Given the description of an element on the screen output the (x, y) to click on. 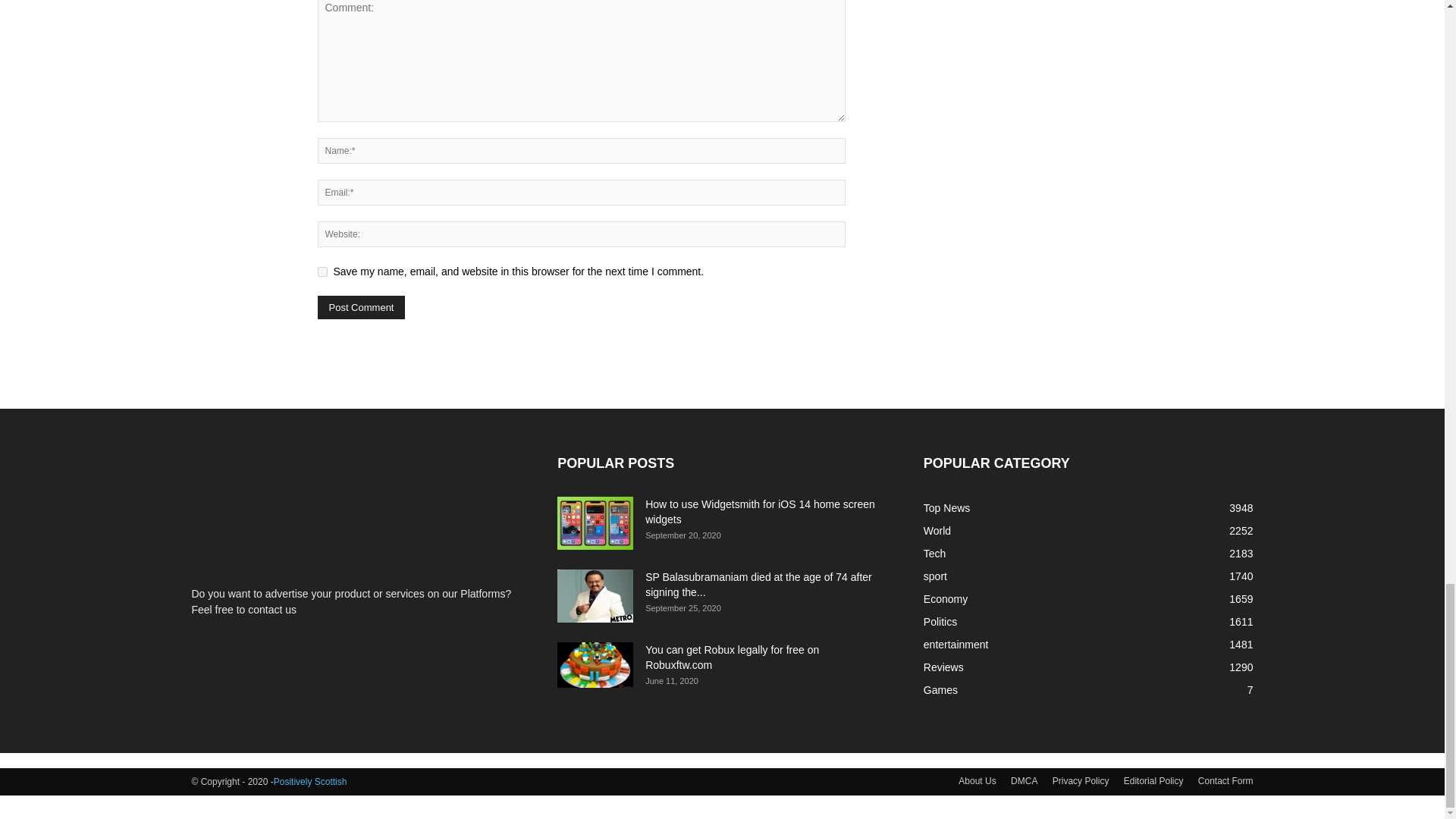
Post Comment (360, 307)
How to use Widgetsmith for iOS 14 home screen widgets (595, 522)
yes (321, 271)
